Given the description of an element on the screen output the (x, y) to click on. 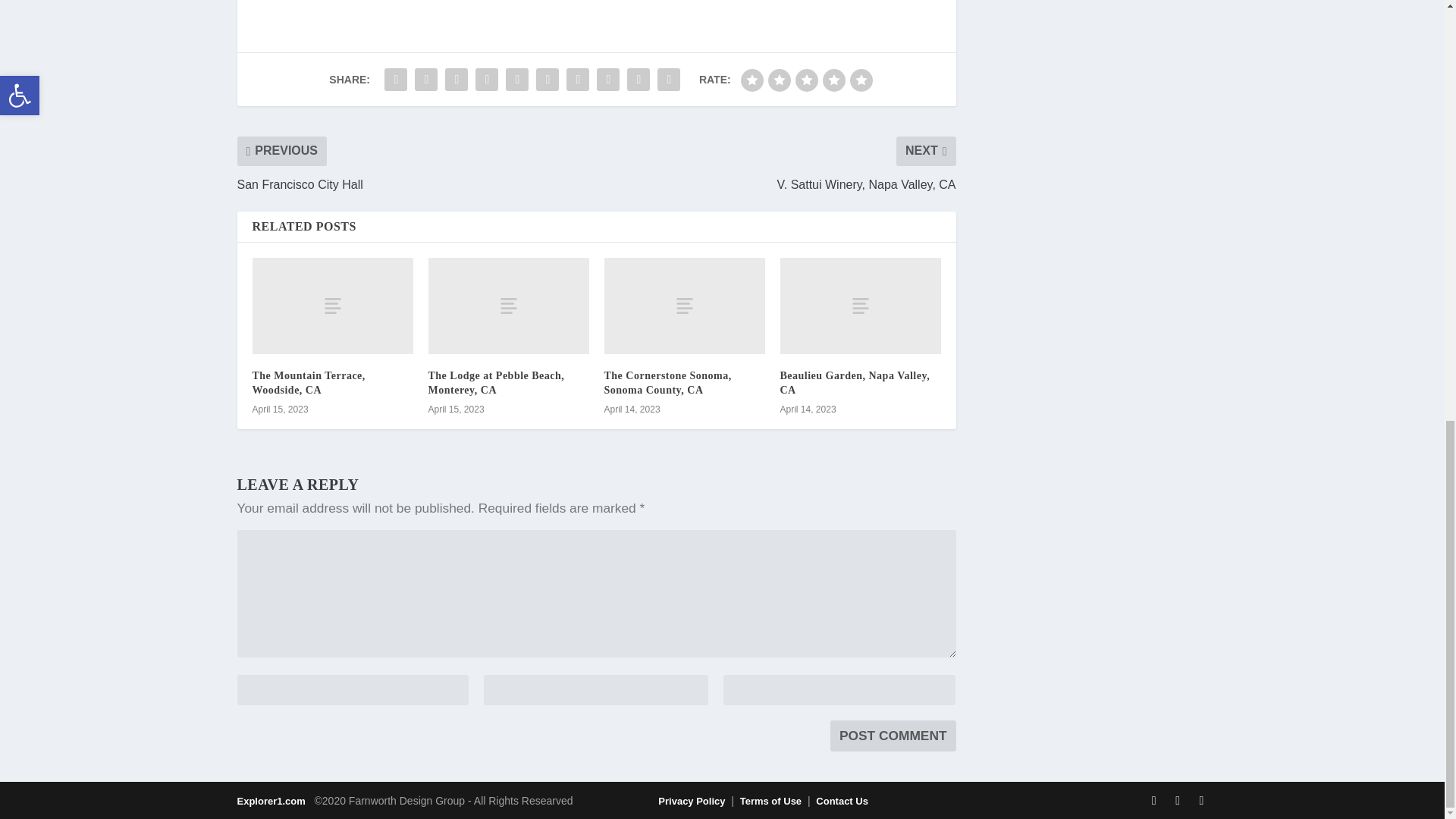
Share "The Ritz-Carlton, Half Moon Bay, CA" via Buffer (577, 79)
Share "The Ritz-Carlton, Half Moon Bay, CA" via LinkedIn (547, 79)
Post Comment (892, 735)
Share "The Ritz-Carlton, Half Moon Bay, CA" via Facebook (395, 79)
Share "The Ritz-Carlton, Half Moon Bay, CA" via Stumbleupon (607, 79)
Share "The Ritz-Carlton, Half Moon Bay, CA" via Email (638, 79)
Share "The Ritz-Carlton, Half Moon Bay, CA" via Tumblr (486, 79)
Share "The Ritz-Carlton, Half Moon Bay, CA" via Pinterest (517, 79)
Share "The Ritz-Carlton, Half Moon Bay, CA" via Twitter (425, 79)
